Given the description of an element on the screen output the (x, y) to click on. 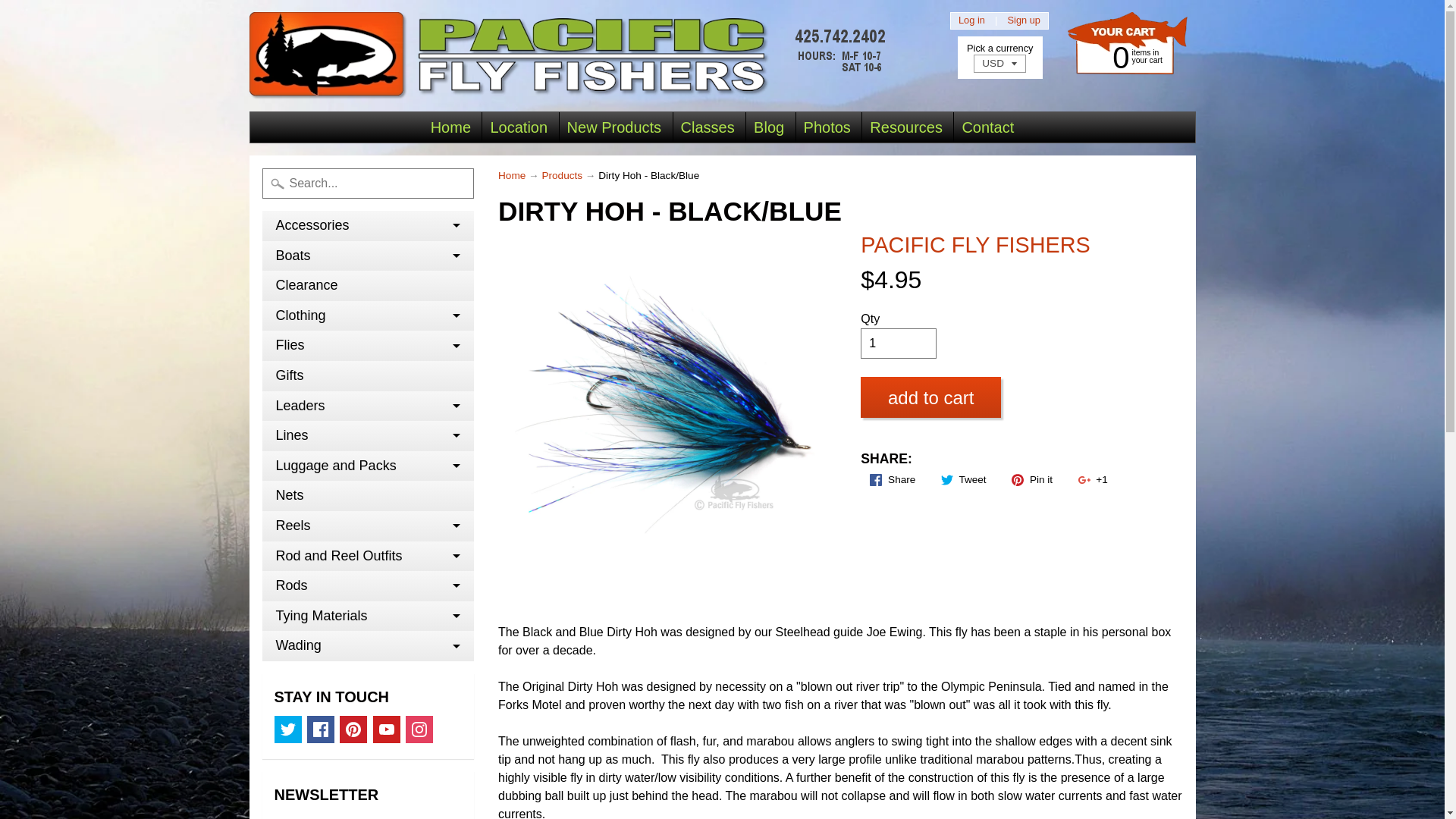
Resources (905, 127)
Instagram (419, 728)
Contact (987, 127)
Home (451, 127)
New Products (614, 127)
Boats (368, 255)
Photos (827, 127)
Pacific Fly Fishers (570, 55)
Sign up (1024, 20)
Twitter (288, 728)
